Given the description of an element on the screen output the (x, y) to click on. 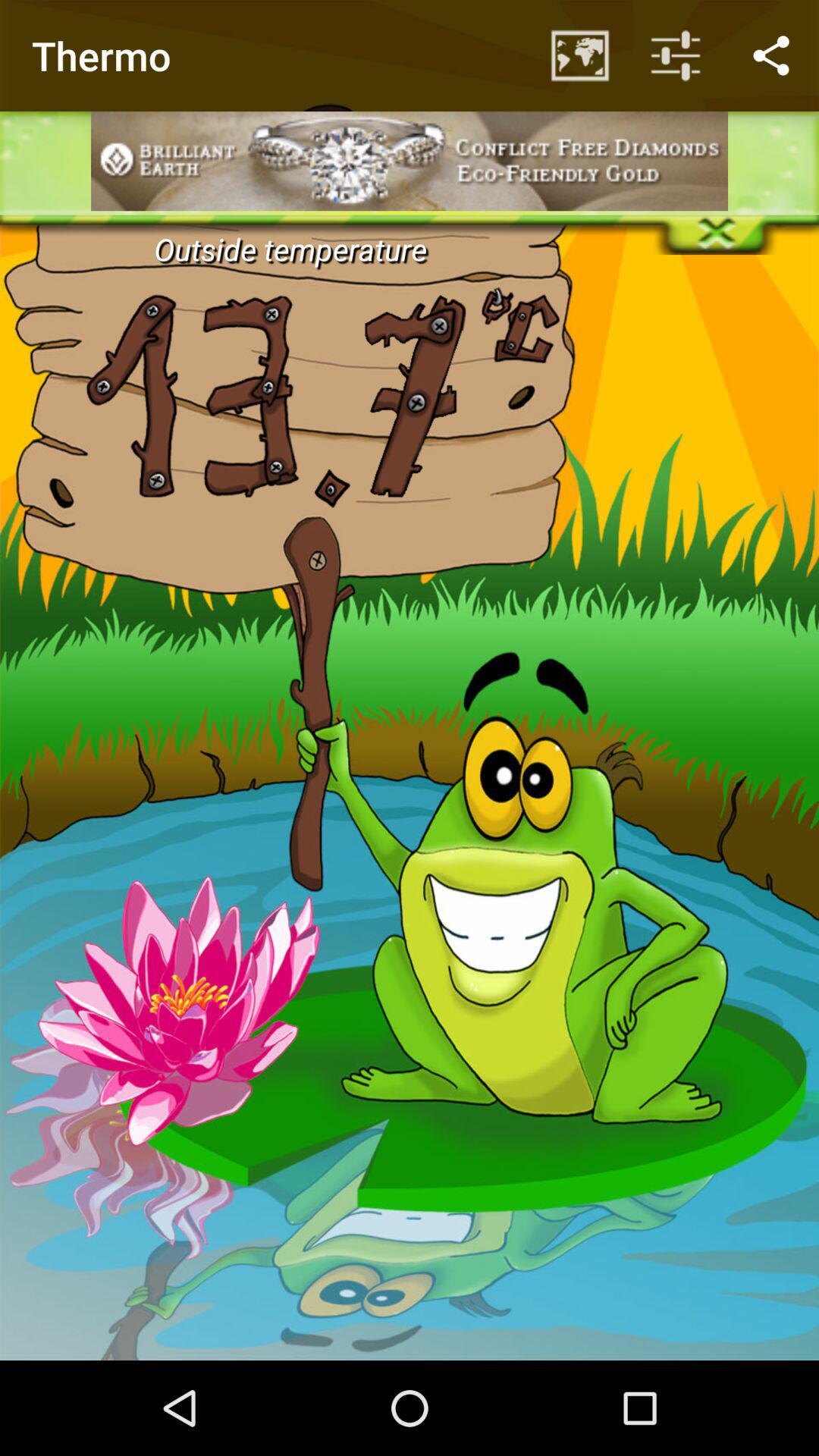
top bar (409, 49)
